Given the description of an element on the screen output the (x, y) to click on. 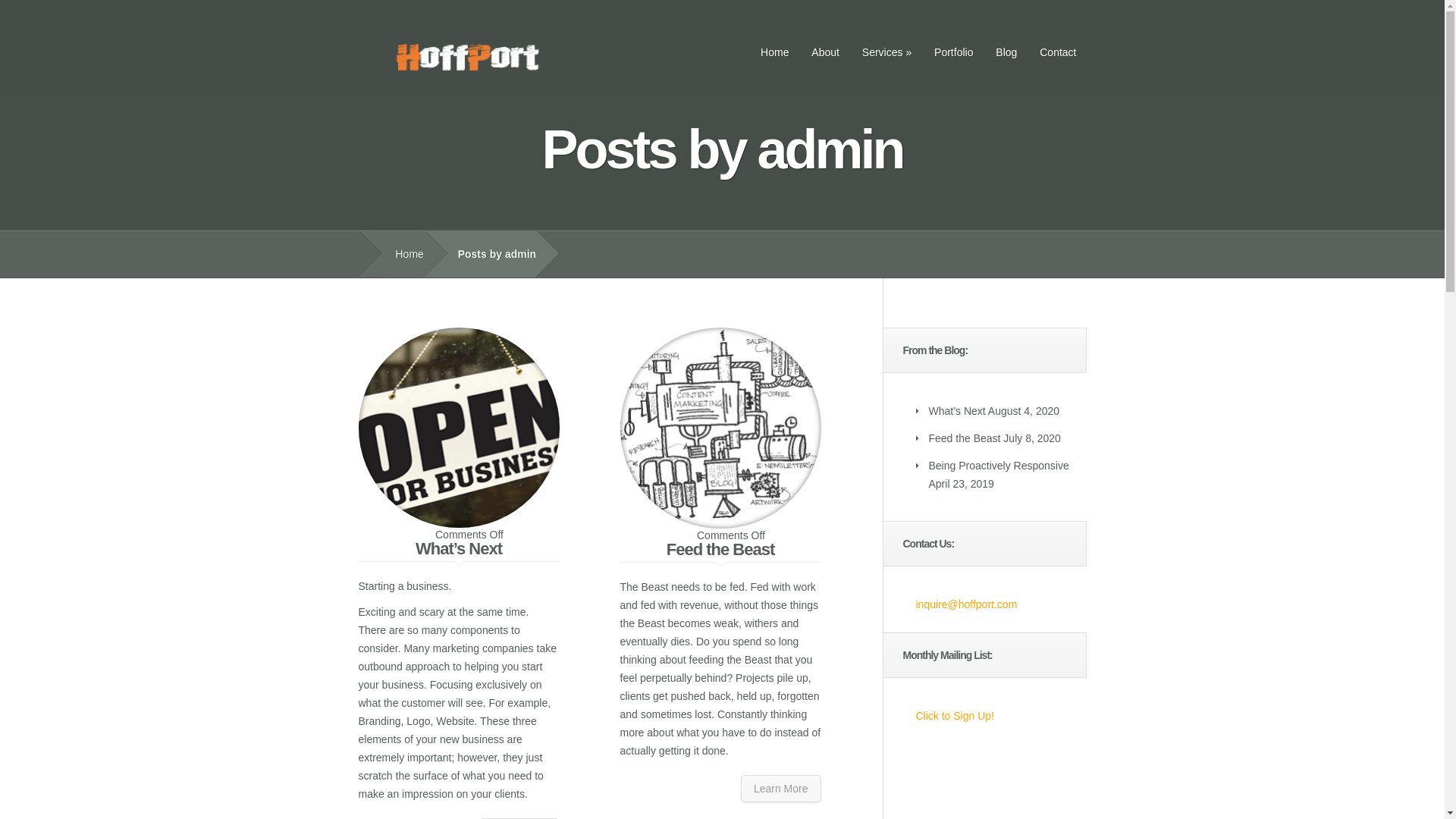
Portfolio (953, 52)
Home (774, 52)
About (825, 52)
Blog (1005, 52)
Learn More (781, 788)
Contact (1057, 52)
Feed the Beast (720, 548)
